Given the description of an element on the screen output the (x, y) to click on. 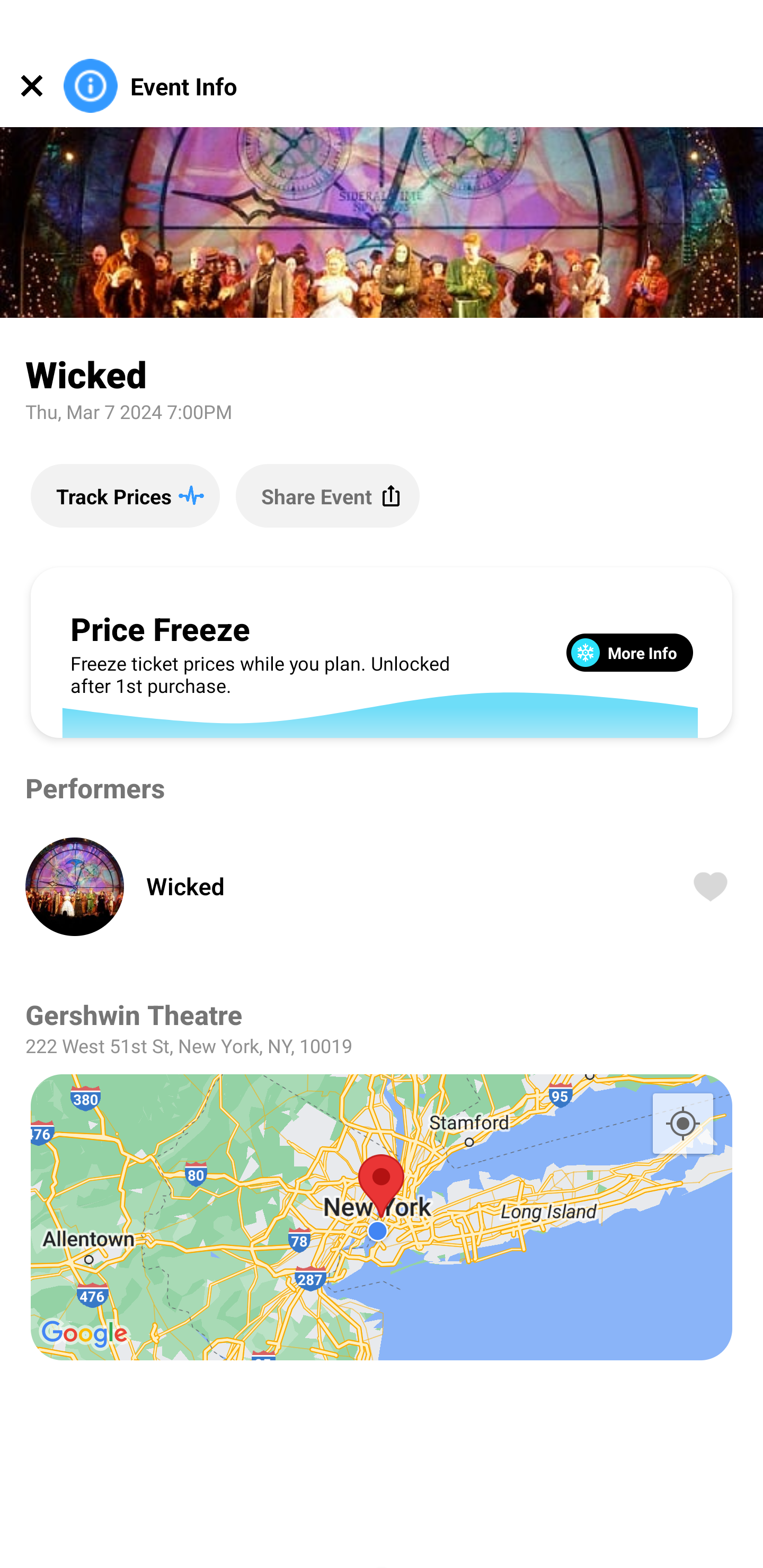
Track Prices (124, 495)
Share Event (327, 495)
More Info (629, 652)
Wicked (394, 886)
Google Map Gershwin Theatre My Location (381, 1217)
My Location (682, 1123)
